Given the description of an element on the screen output the (x, y) to click on. 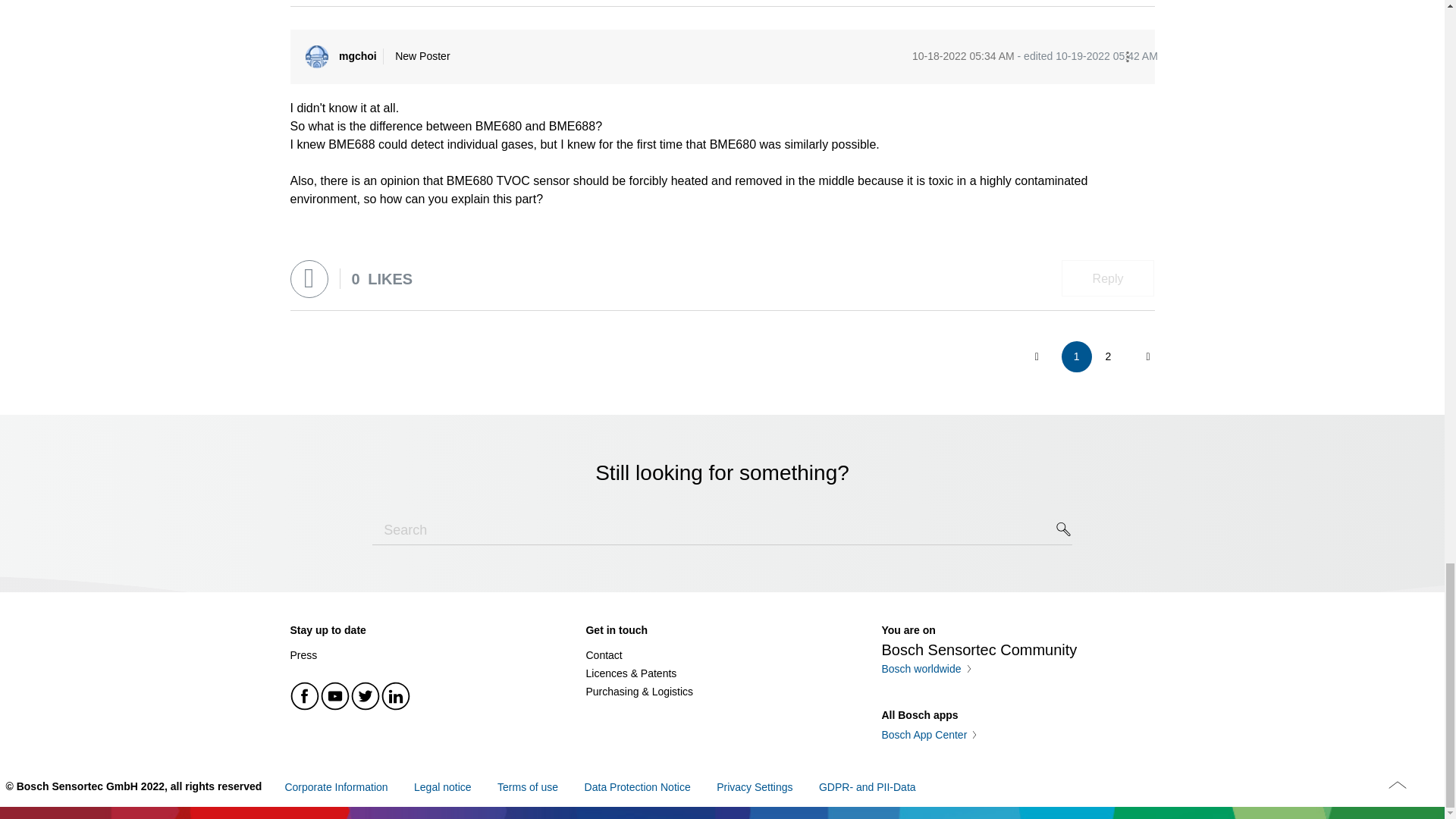
Facebook (304, 695)
Icon up (1397, 784)
Youtube (335, 695)
Twitter (365, 695)
Icon search (1064, 529)
Linkedin (395, 695)
